Given the description of an element on the screen output the (x, y) to click on. 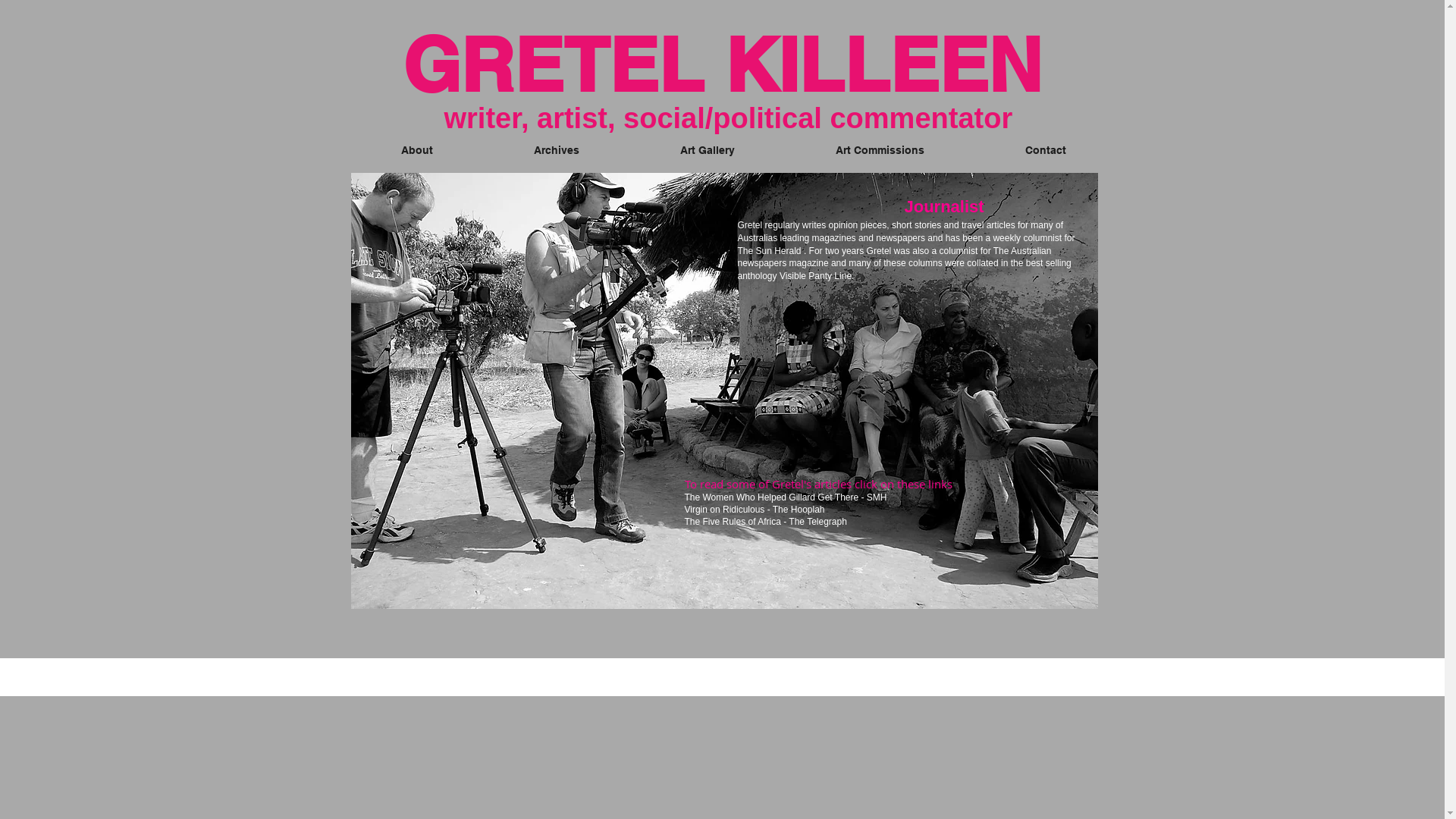
Contact Element type: text (1046, 150)
Archives Element type: text (556, 150)
Art Commissions Element type: text (880, 150)
zambia_GK_BW.jpg Element type: hover (723, 390)
Art Gallery Element type: text (706, 150)
About Element type: text (416, 150)
